Given the description of an element on the screen output the (x, y) to click on. 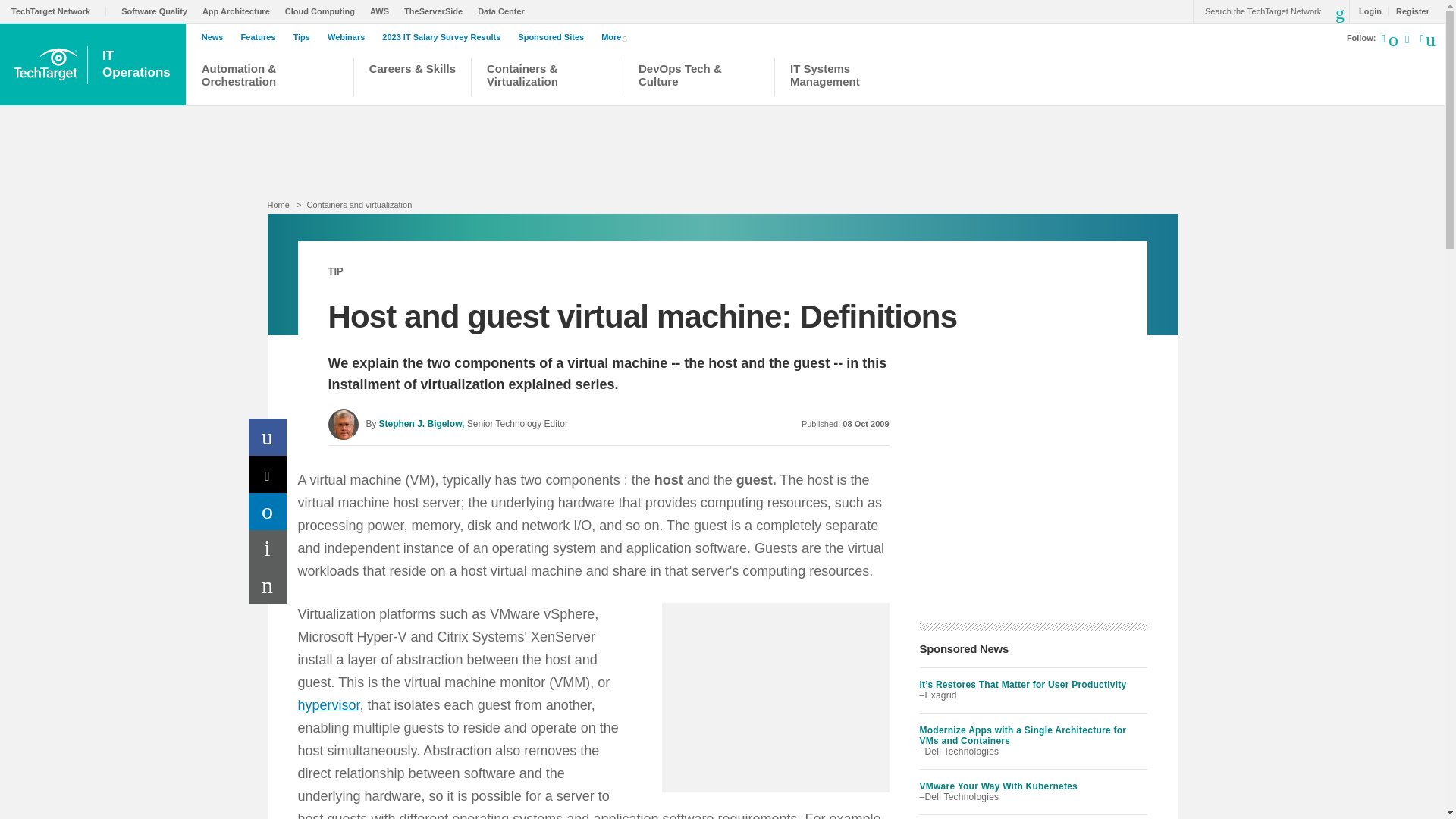
IT Systems Management (831, 79)
Share on X (267, 474)
News (216, 36)
Share on Facebook (267, 436)
AWS (382, 10)
Share on LinkedIn (267, 511)
Login (1366, 10)
Register (1408, 10)
Cloud Computing (323, 10)
Email a Friend (267, 585)
Tips (304, 36)
2023 IT Salary Survey Results (444, 36)
Features (262, 36)
Data Center (504, 10)
TechTarget Network (58, 10)
